Given the description of an element on the screen output the (x, y) to click on. 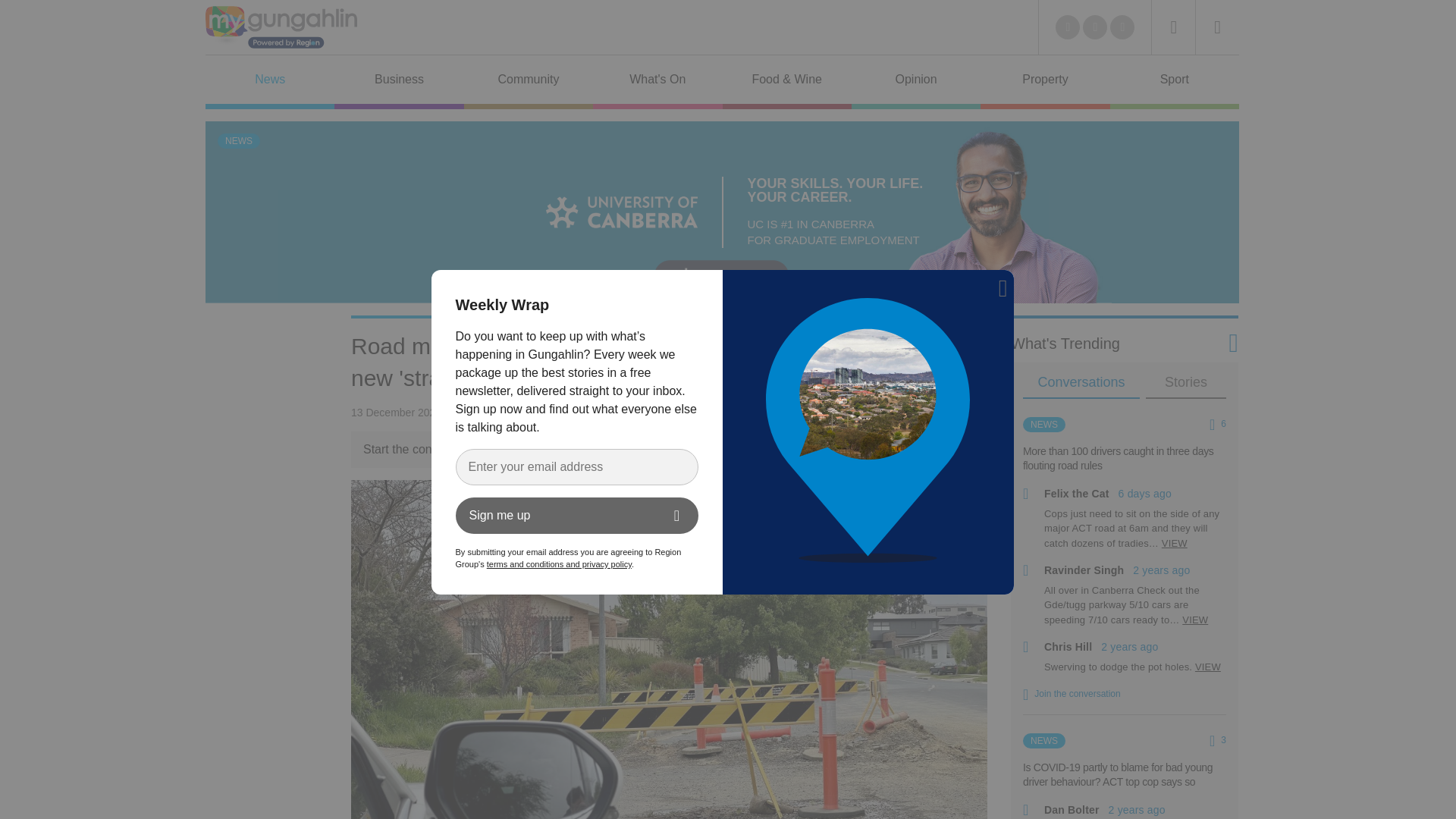
Instagram (1121, 27)
Twitter (1067, 27)
Facebook (1094, 27)
Community (528, 81)
News (269, 81)
My Gungahlin Home (280, 26)
Business (398, 81)
